Given the description of an element on the screen output the (x, y) to click on. 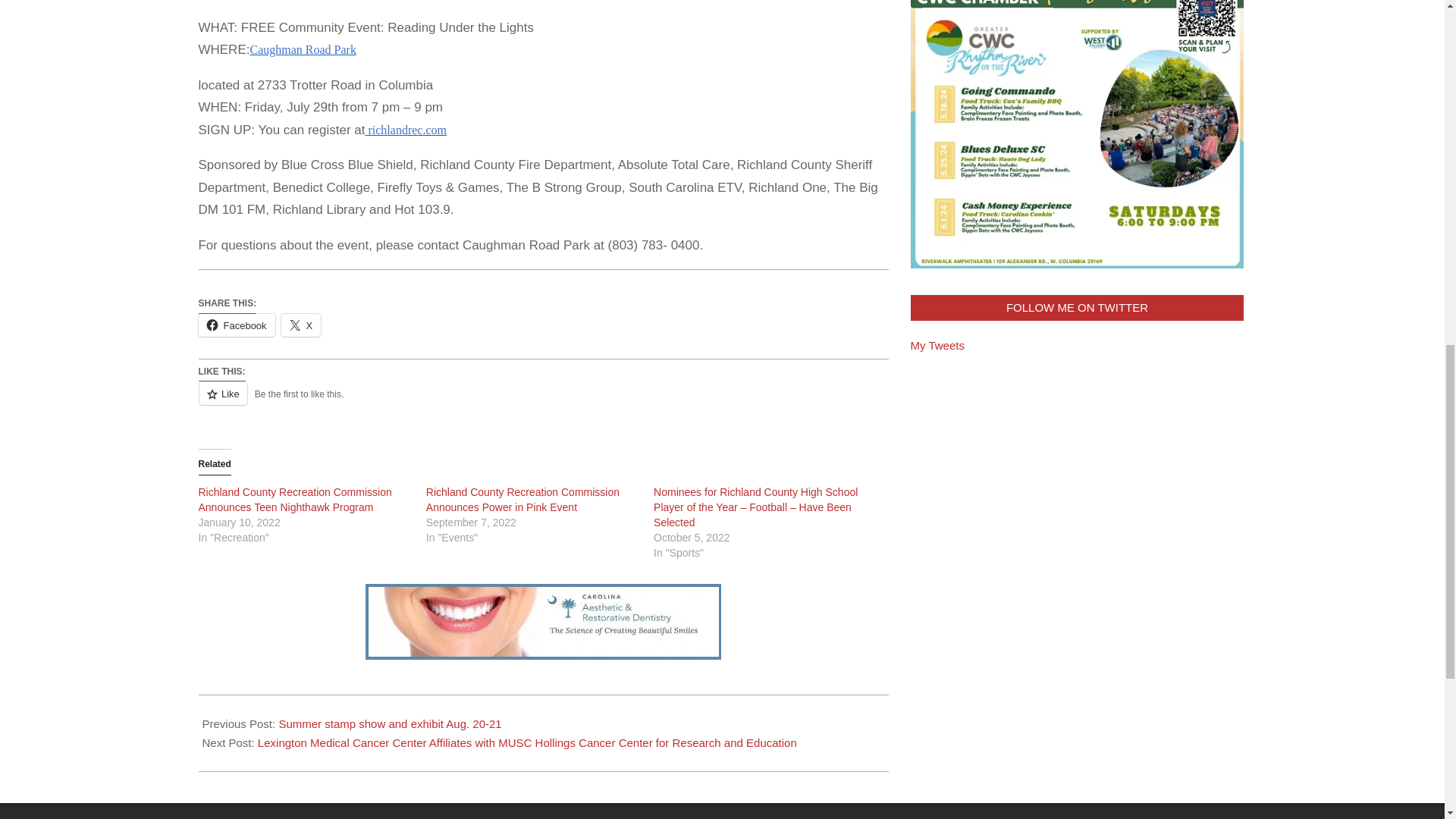
Click to share on X (301, 324)
richlandrec.com (405, 129)
Facebook (236, 324)
Like or Reblog (543, 402)
Caughman Road Park (301, 49)
Click to share on Facebook (236, 324)
X (301, 324)
